Given the description of an element on the screen output the (x, y) to click on. 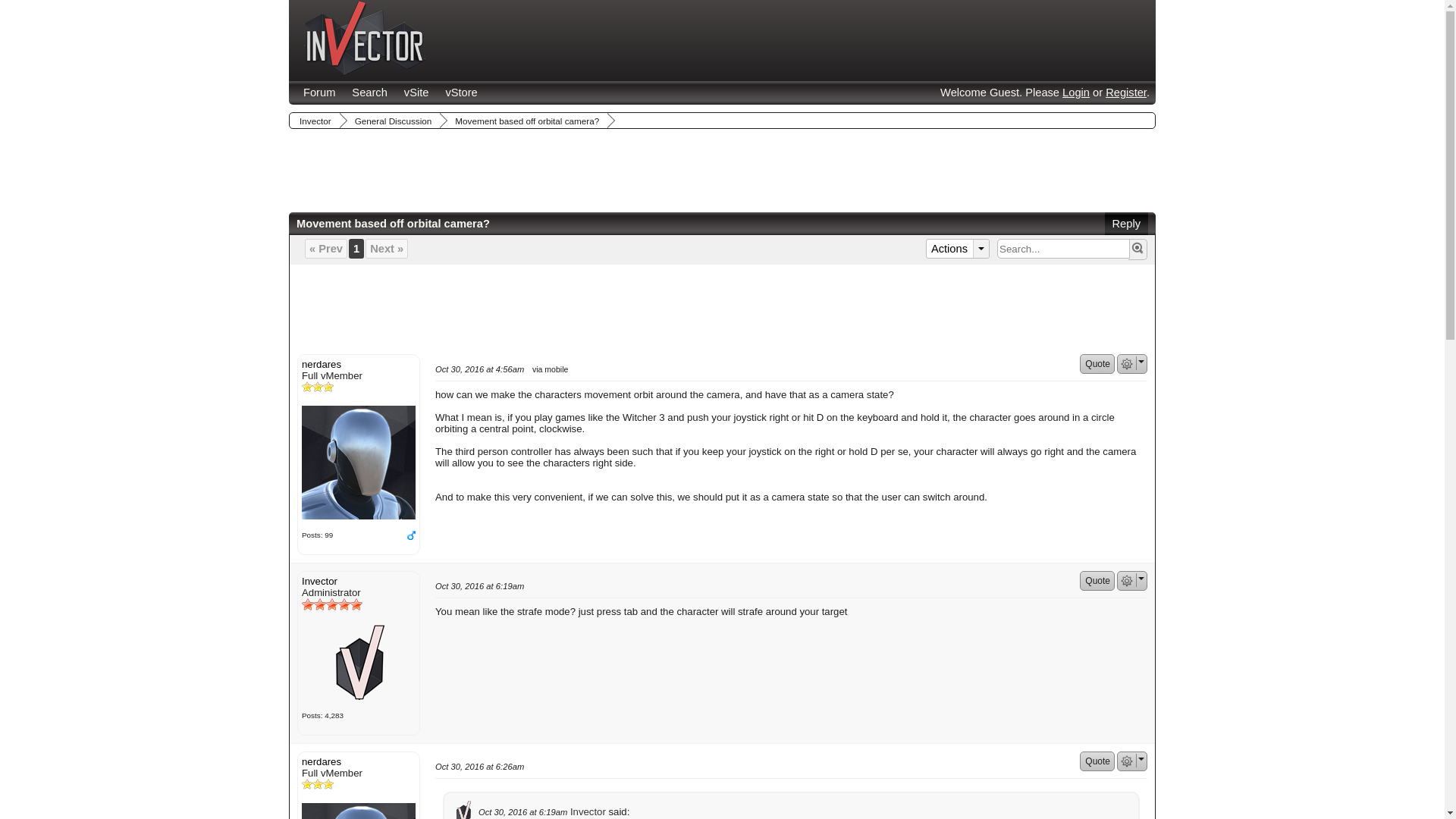
Invector (357, 662)
Post Options (1126, 363)
Movement based off orbital camera? (525, 120)
vStore (460, 92)
Register (1126, 92)
Post Options (1126, 580)
Forum (319, 92)
Invector (365, 38)
Login (1075, 92)
General Discussion (391, 120)
Invector (313, 120)
vSite (417, 92)
nerdares (357, 811)
